Given the description of an element on the screen output the (x, y) to click on. 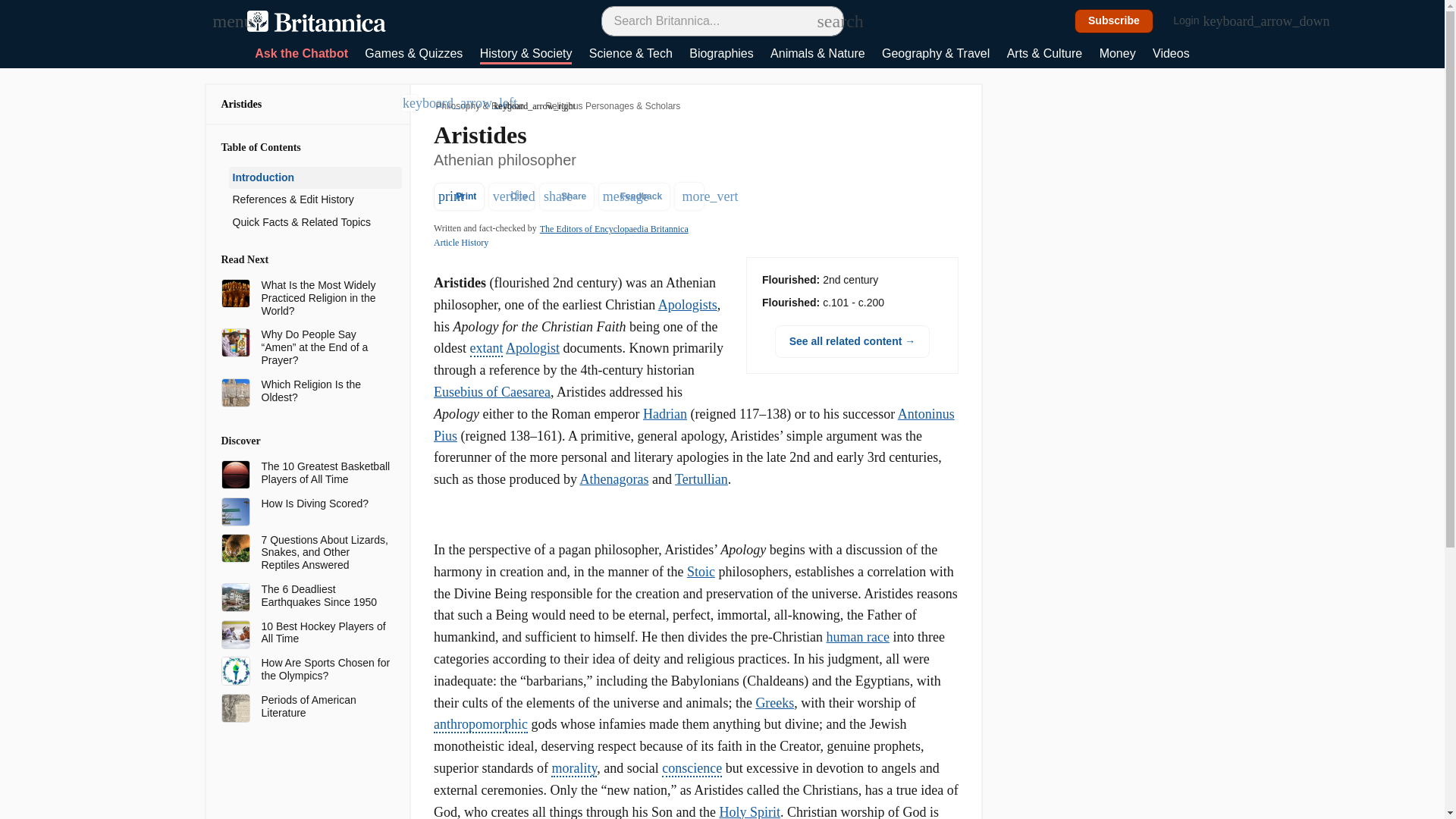
Click here to search (825, 20)
Login (1194, 20)
Subscribe (1114, 21)
